Given the description of an element on the screen output the (x, y) to click on. 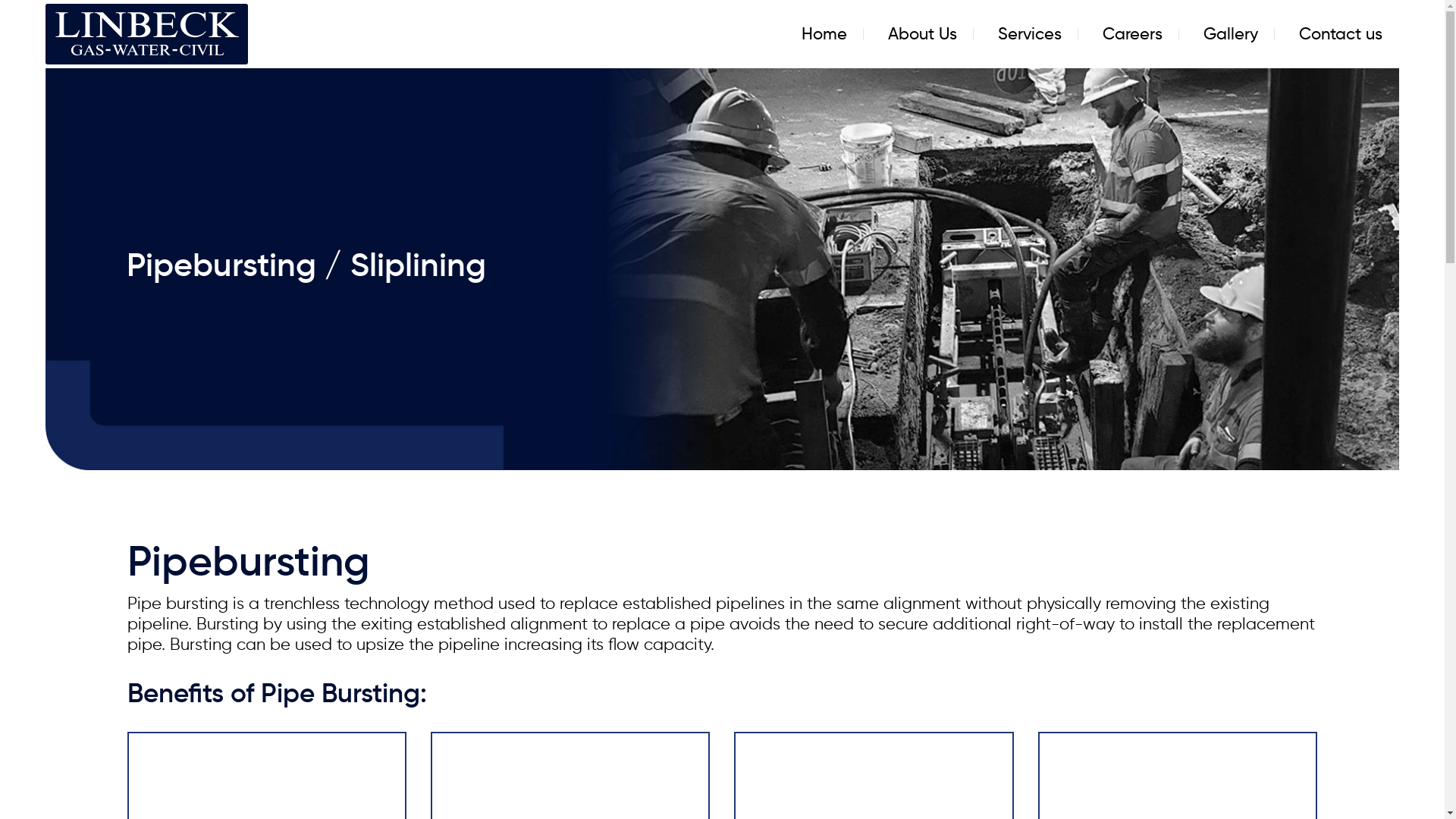
Home Element type: text (823, 34)
About Us Element type: text (922, 34)
Services Element type: text (1029, 34)
Gallery Element type: text (1230, 34)
Contact us Element type: text (1340, 34)
Careers Element type: text (1132, 34)
